Given the description of an element on the screen output the (x, y) to click on. 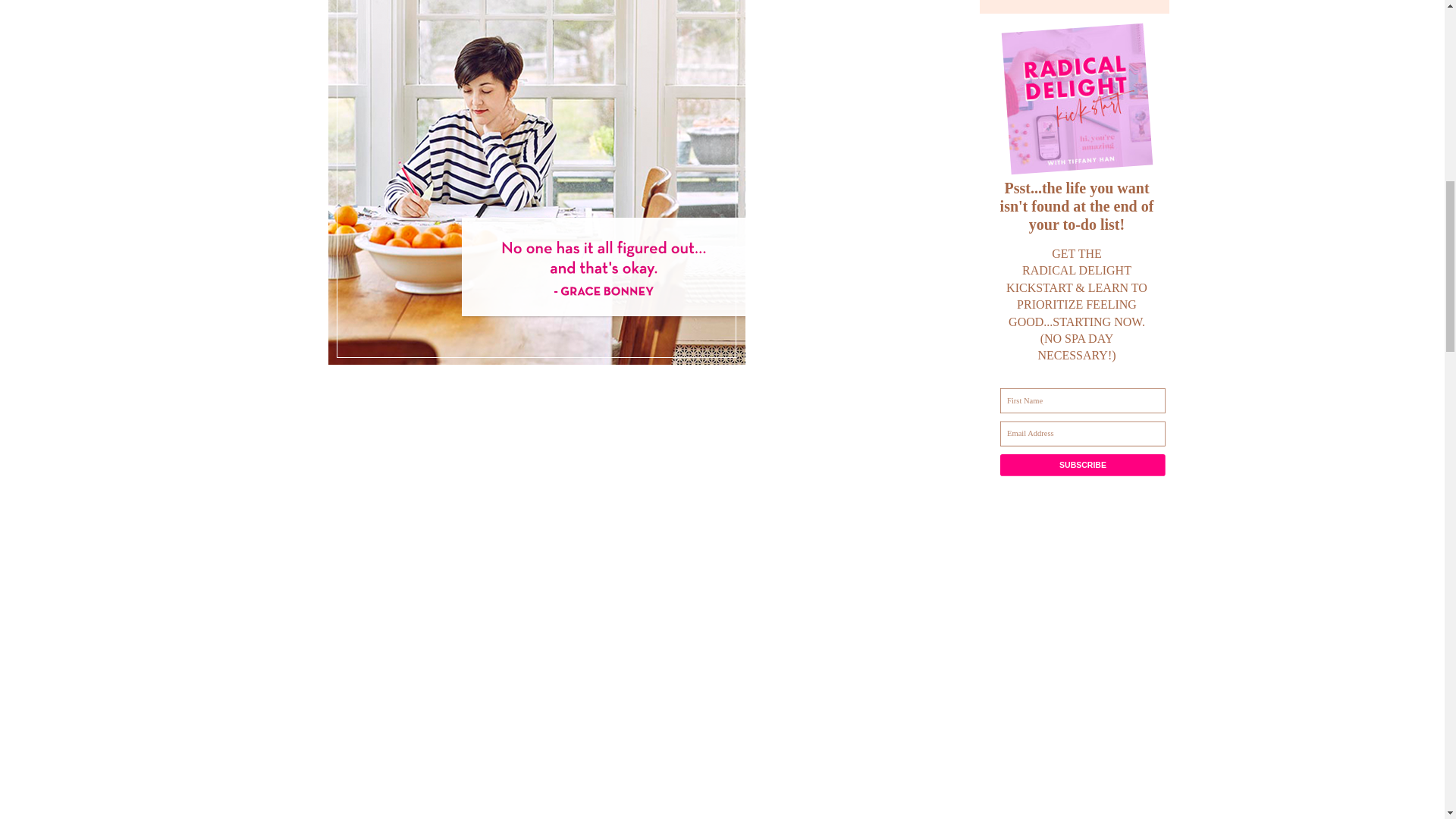
SUBSCRIBE (1116, 469)
